Given the description of an element on the screen output the (x, y) to click on. 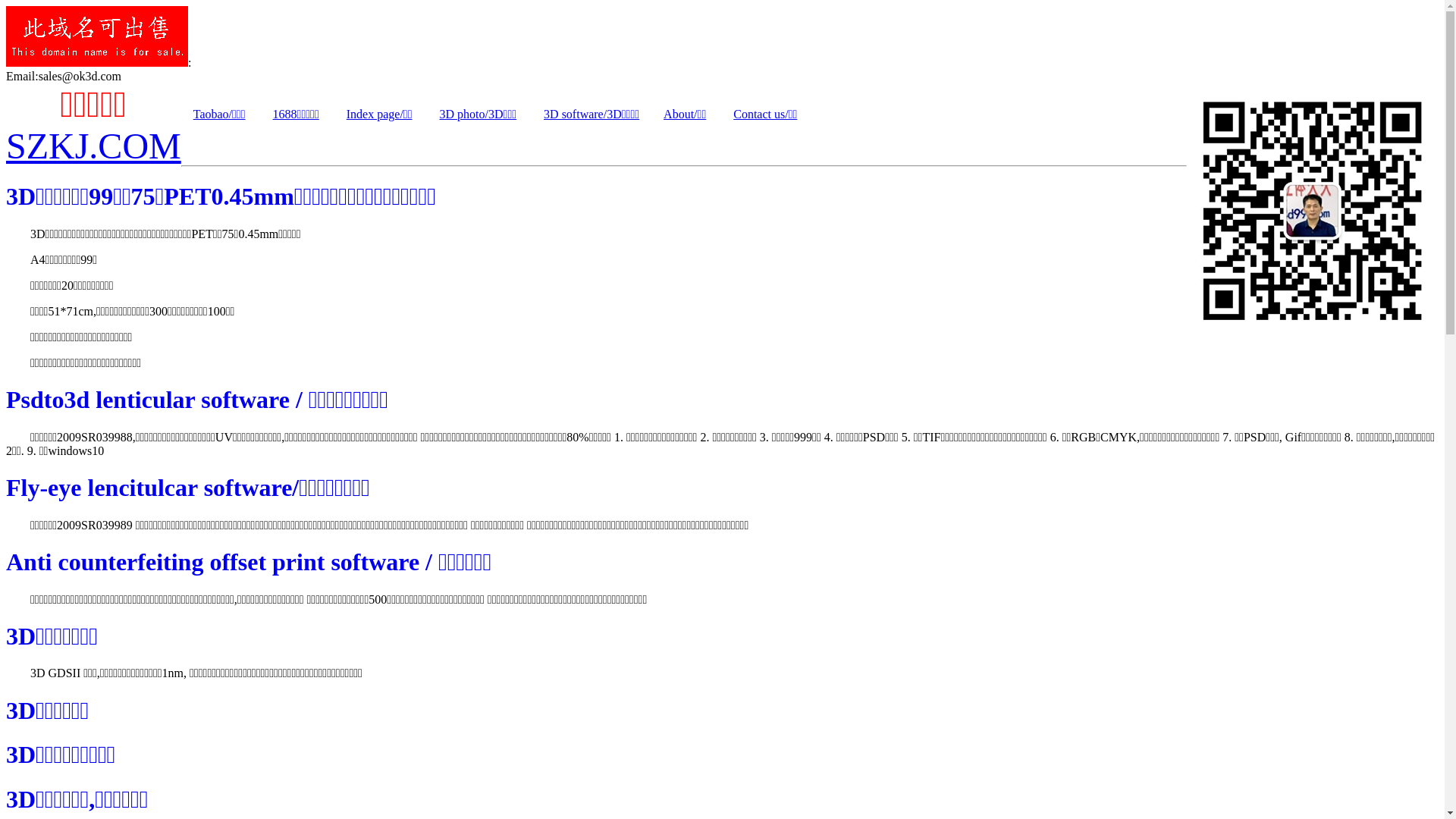
SZKJ.COM Element type: text (93, 145)
